Given the description of an element on the screen output the (x, y) to click on. 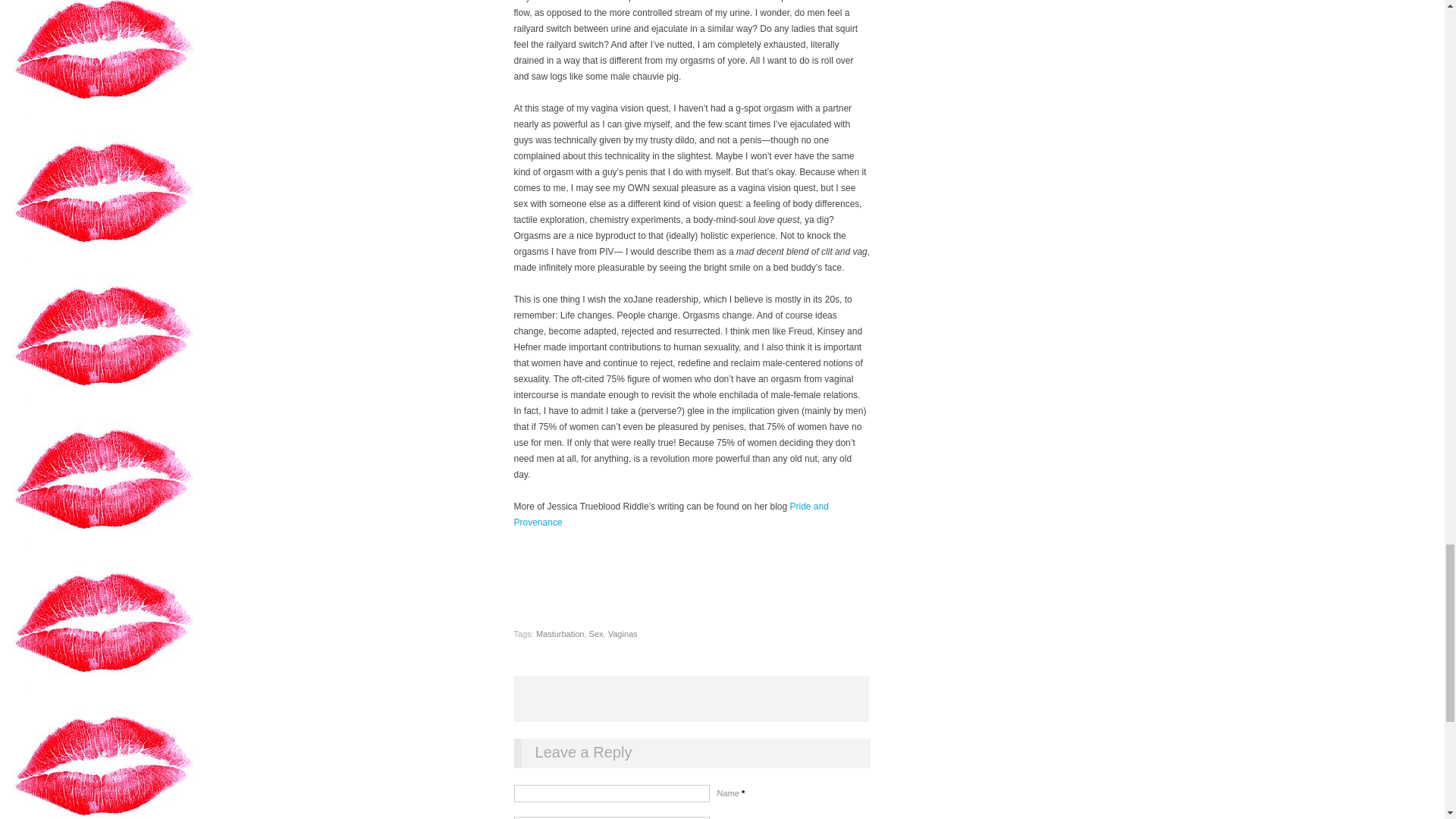
Advertisement (691, 698)
